Given the description of an element on the screen output the (x, y) to click on. 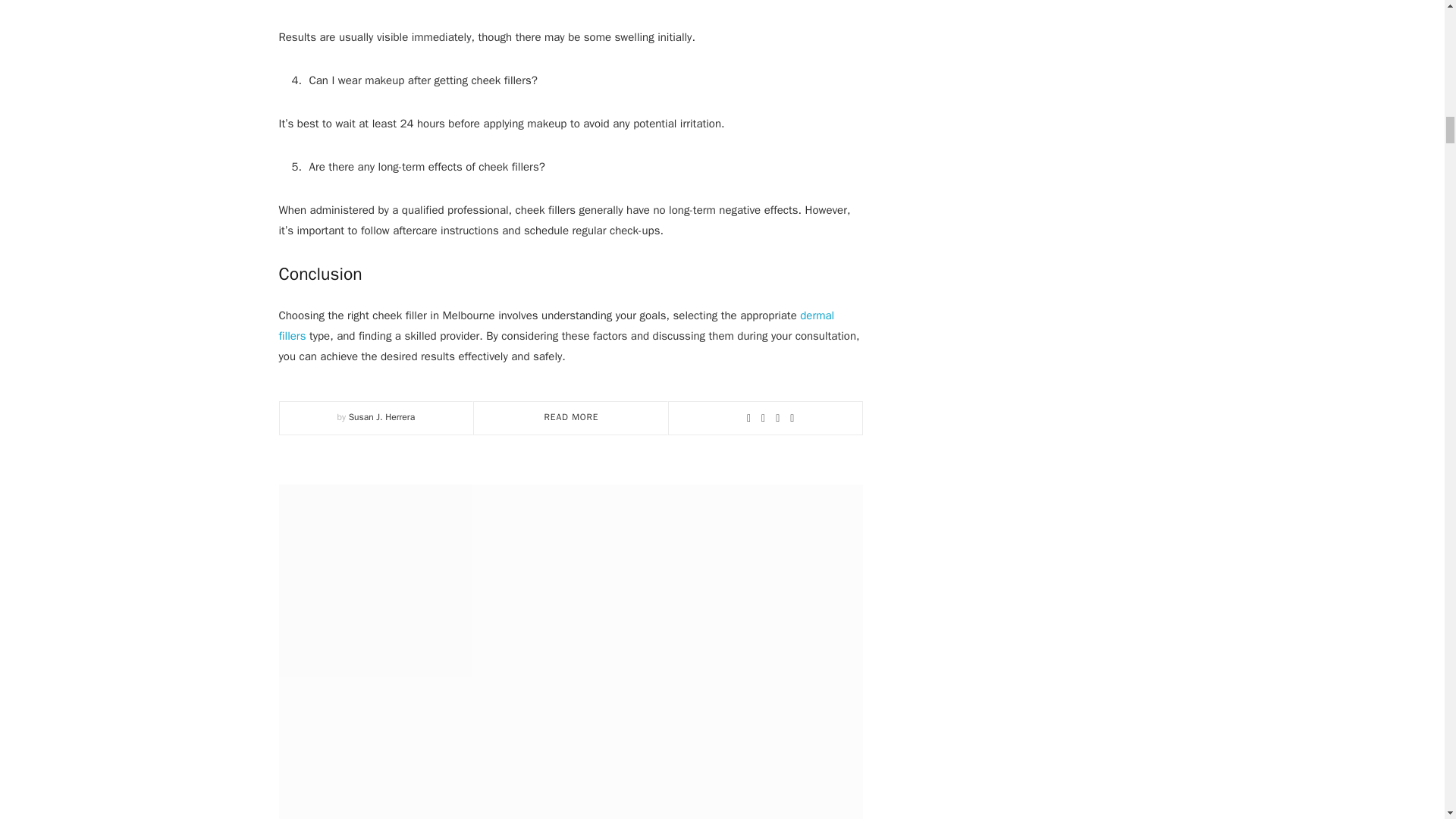
Susan J. Herrera (381, 417)
READ MORE (571, 417)
Posts by Susan J. Herrera (381, 417)
dermal fillers (556, 325)
